Given the description of an element on the screen output the (x, y) to click on. 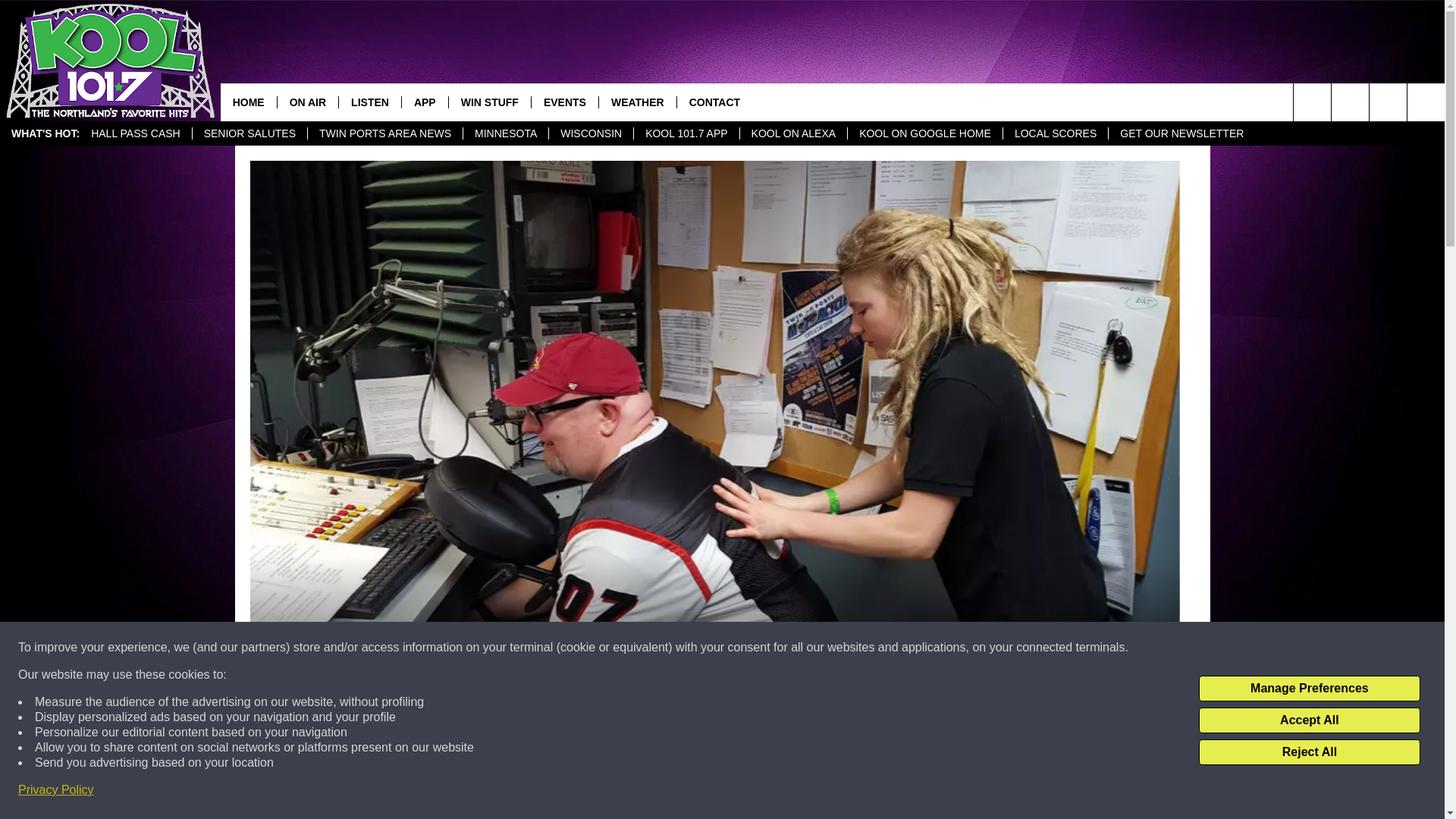
HOME (248, 102)
Share on Twitter (912, 791)
GET OUR NEWSLETTER (1181, 133)
TWIN PORTS AREA NEWS (385, 133)
WIN STUFF (489, 102)
HALL PASS CASH (136, 133)
Accept All (1309, 720)
SENIOR SALUTES (249, 133)
APP (424, 102)
MINNESOTA (505, 133)
KOOL ON GOOGLE HOME (925, 133)
Privacy Policy (55, 789)
LOCAL SCORES (1055, 133)
LISTEN (369, 102)
WISCONSIN (590, 133)
